Given the description of an element on the screen output the (x, y) to click on. 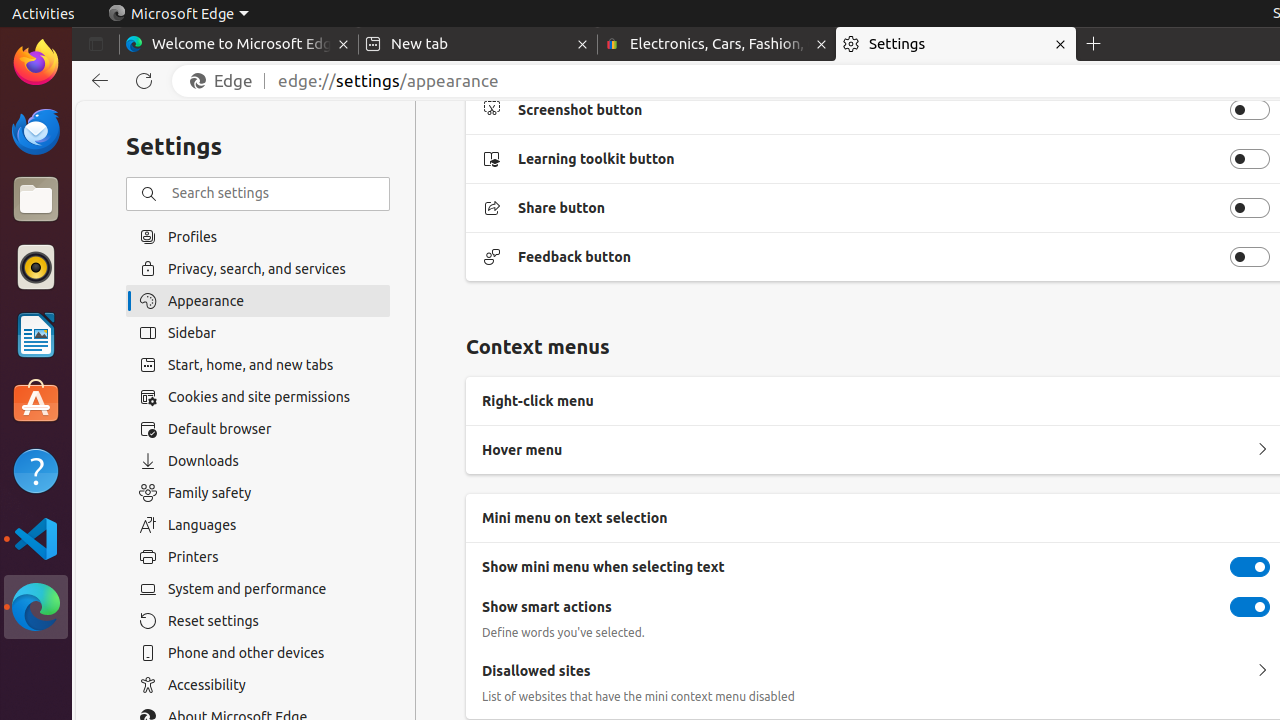
Ubuntu Software Element type: push-button (36, 402)
Hover menu Element type: push-button (1262, 450)
Show smart actions Element type: check-box (1250, 607)
Refresh Element type: push-button (144, 81)
Sidebar Element type: tree-item (258, 333)
